Given the description of an element on the screen output the (x, y) to click on. 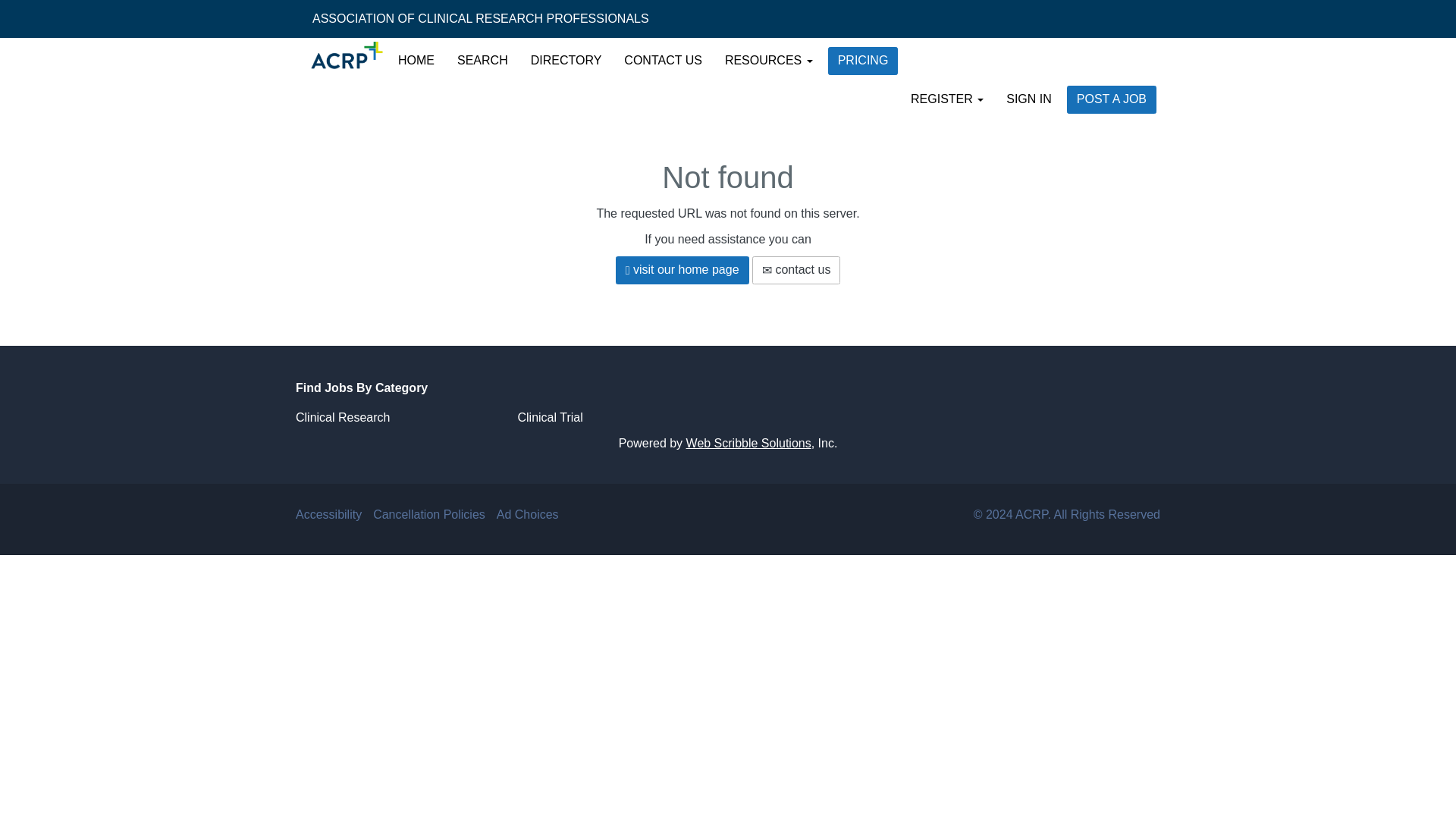
Accessibility (328, 513)
Ad Choices (527, 513)
Find Jobs By Category (727, 388)
PRICING (863, 60)
HOME (416, 60)
Clinical Research (342, 417)
contact us (796, 270)
POST A JOB (1111, 99)
SEARCH (482, 60)
SIGN IN (1028, 98)
